Given the description of an element on the screen output the (x, y) to click on. 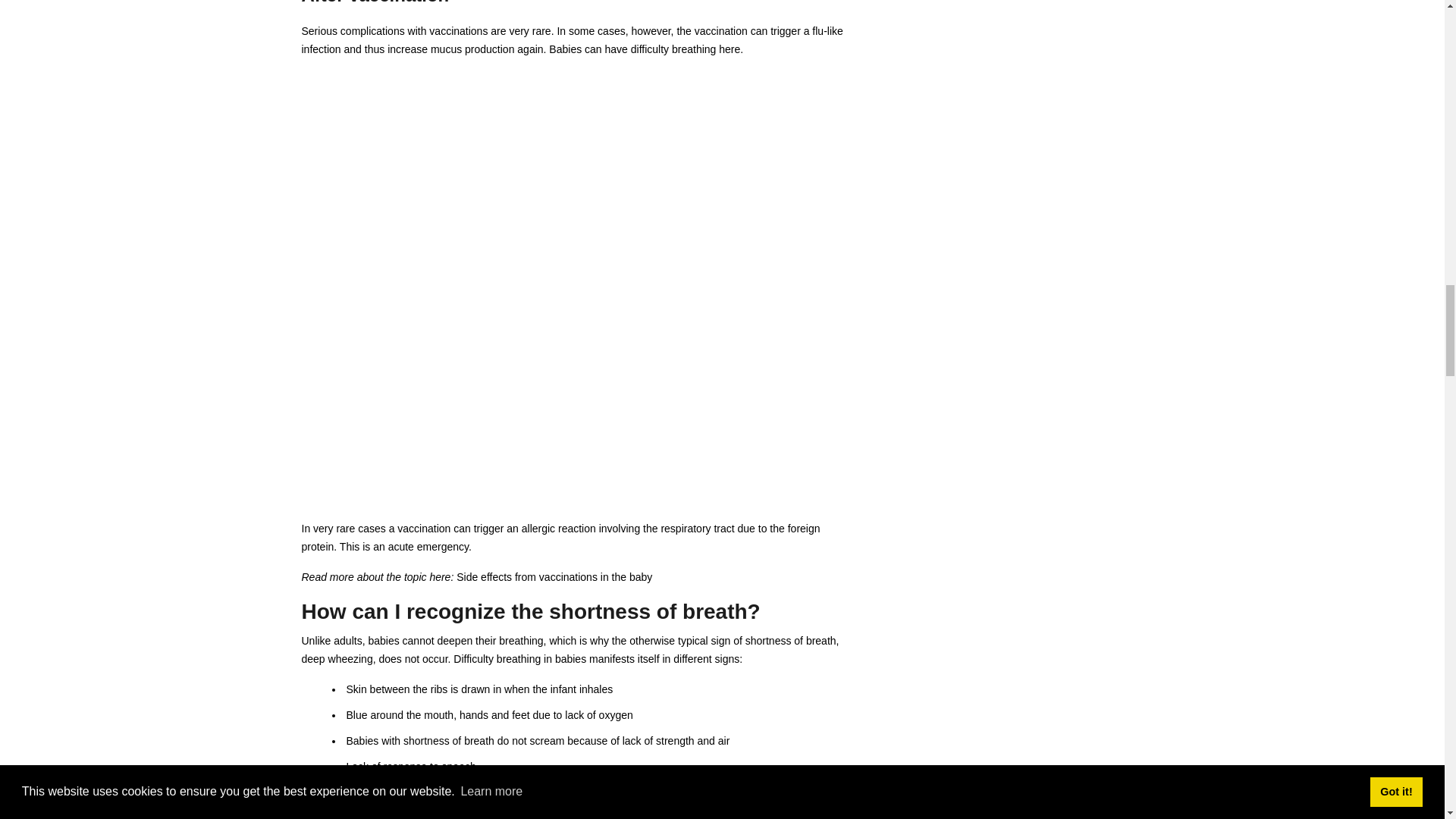
Advertisement (578, 400)
